Given the description of an element on the screen output the (x, y) to click on. 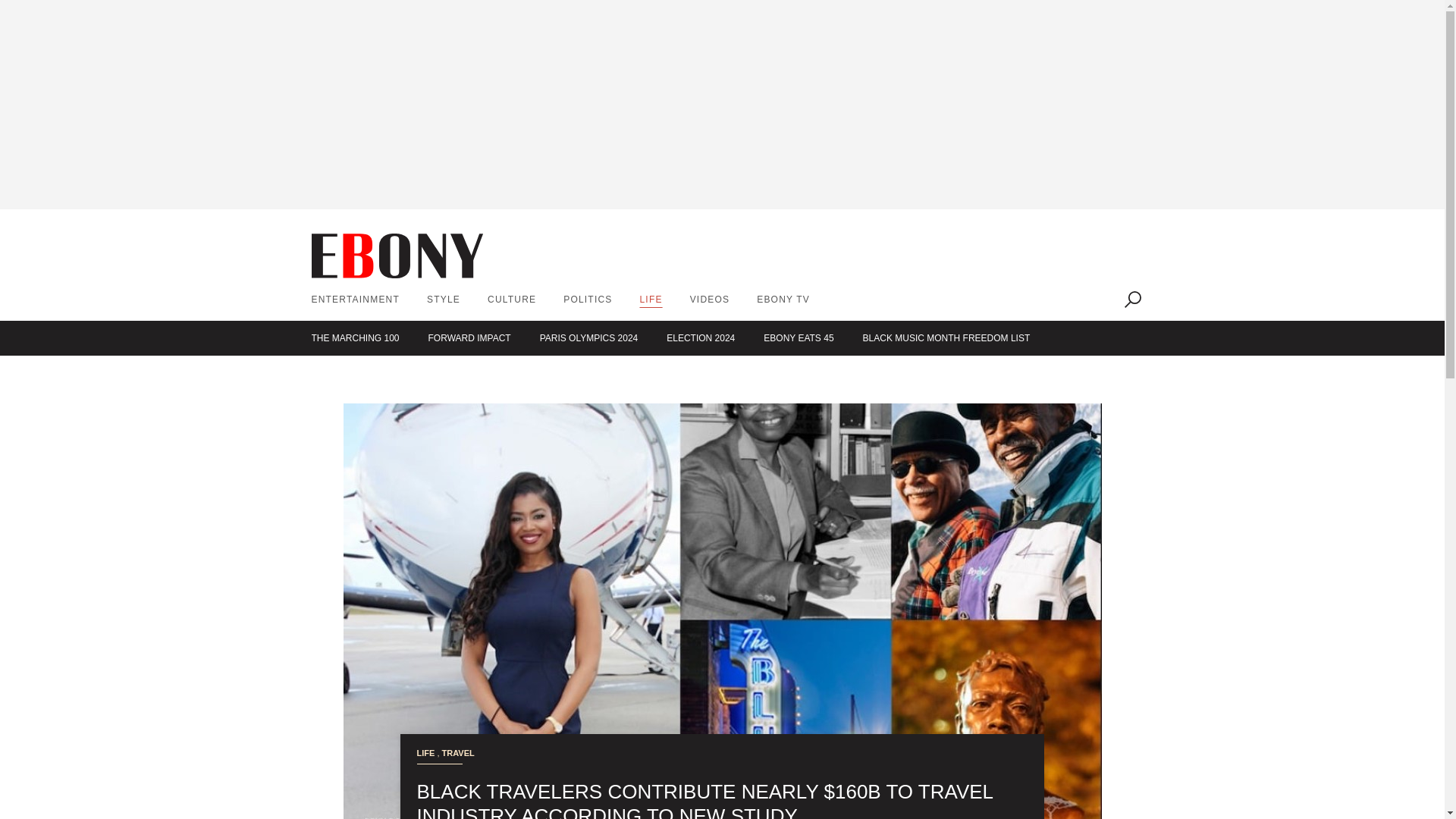
Culture (511, 299)
EBONY TV (783, 299)
POLITICS (587, 299)
Entertainment (354, 299)
LIFE (650, 299)
Style (443, 299)
VIDEOS (710, 299)
STYLE (443, 299)
ENTERTAINMENT (354, 299)
CULTURE (511, 299)
